Given the description of an element on the screen output the (x, y) to click on. 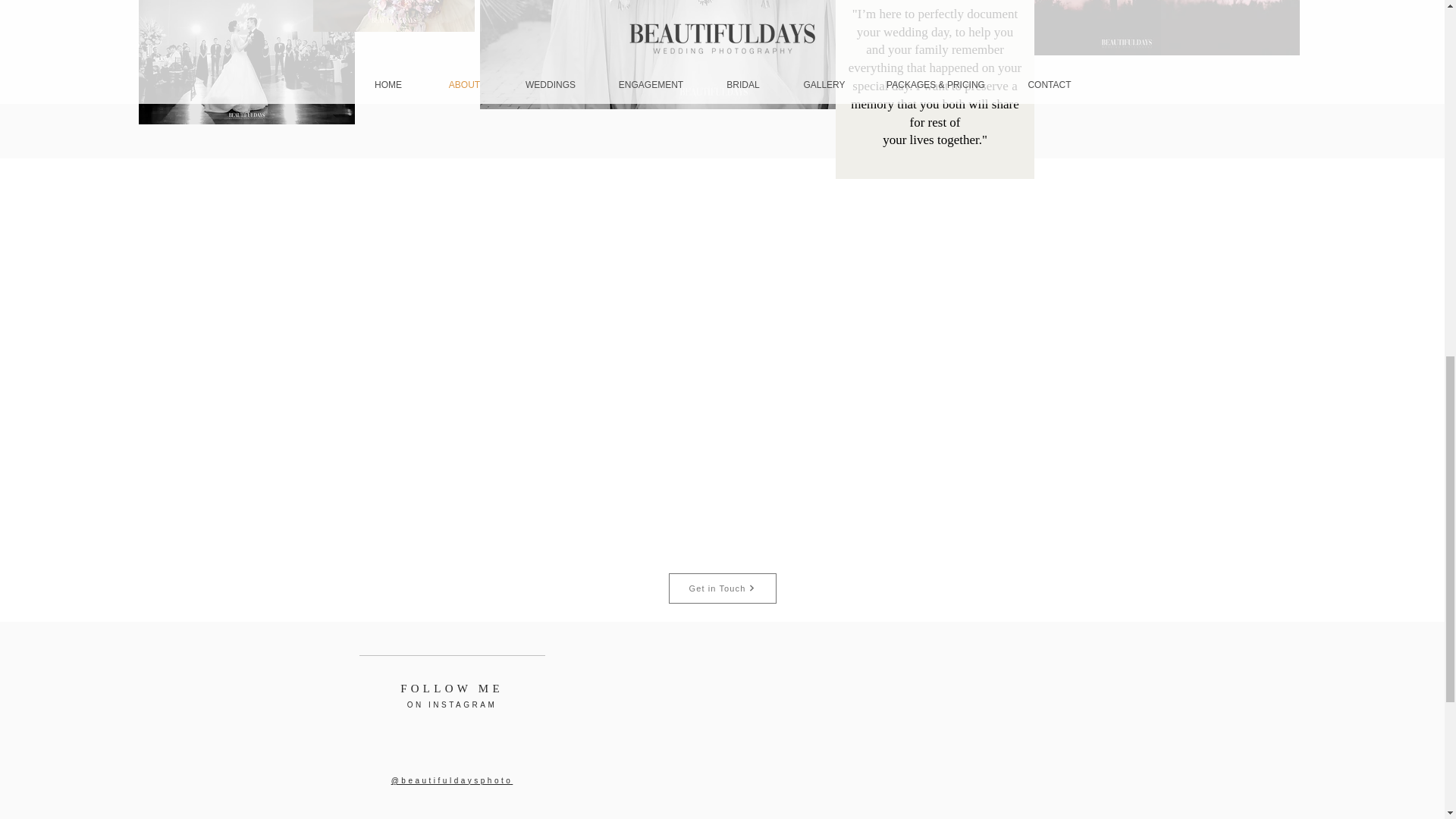
Get in Touch (722, 588)
